Given the description of an element on the screen output the (x, y) to click on. 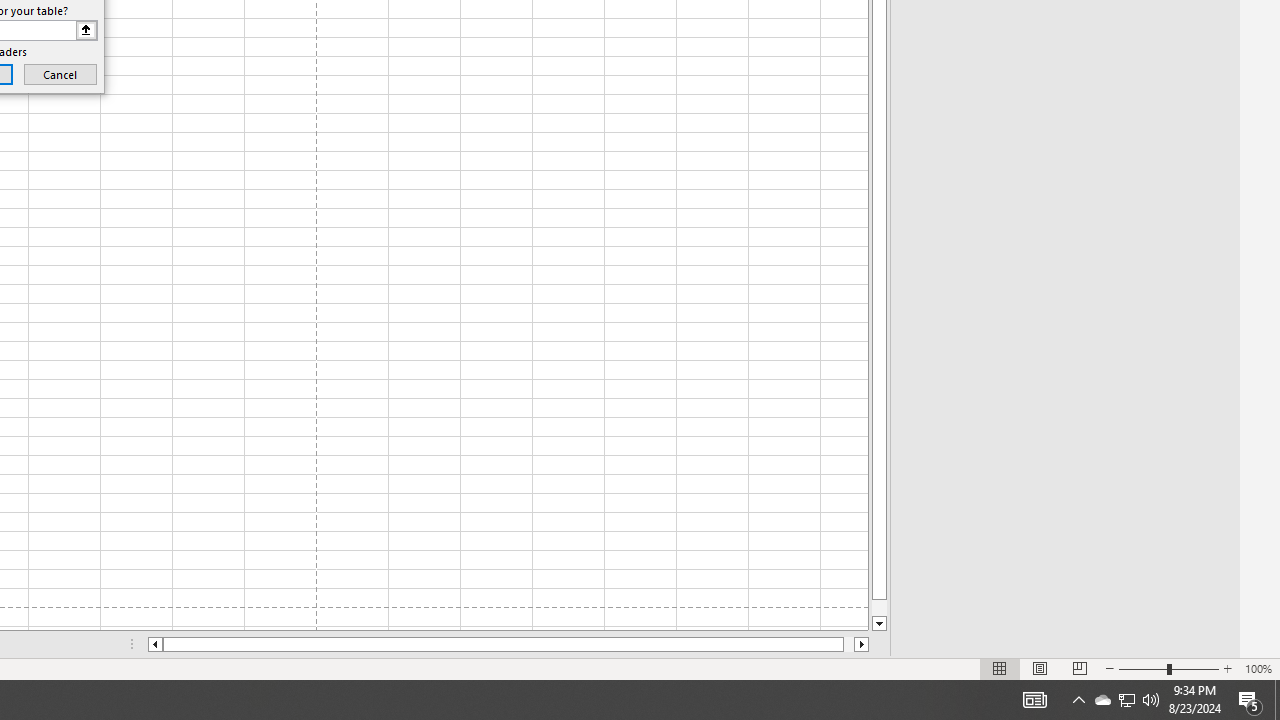
Page down (879, 607)
Zoom (1168, 668)
Page Break Preview (1079, 668)
Zoom Out (1142, 668)
Line down (879, 624)
Column left (153, 644)
Class: NetUIScrollBar (507, 644)
Page right (848, 644)
Column right (861, 644)
Zoom In (1227, 668)
